Given the description of an element on the screen output the (x, y) to click on. 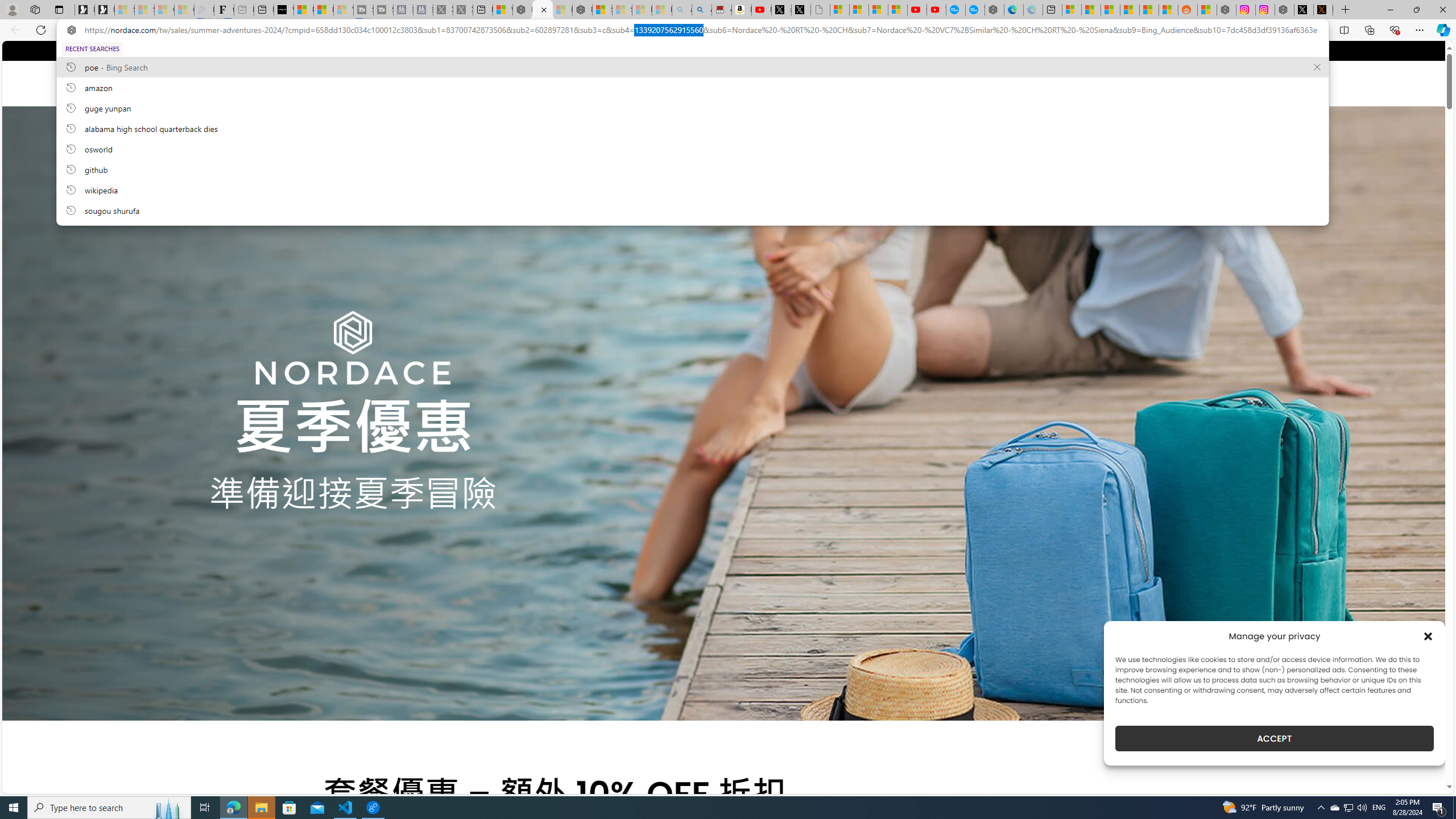
Microsoft Start (322, 9)
View site information (70, 29)
App bar (728, 29)
Browser essentials (1394, 29)
